Given the description of an element on the screen output the (x, y) to click on. 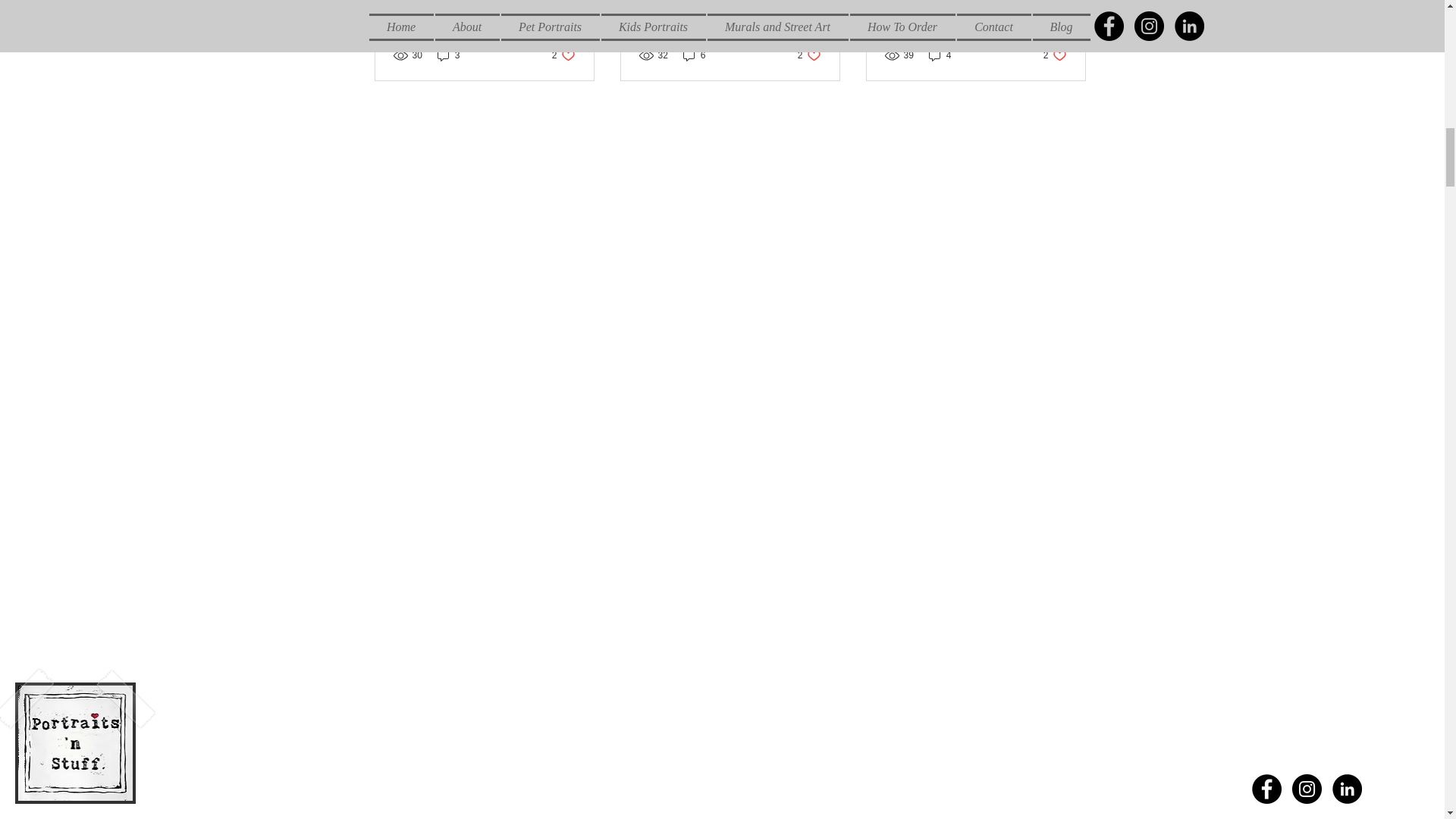
4 (563, 55)
6 (940, 55)
Day 100. Voles in vestments. (1055, 55)
Day 98. A T-Rex in a tiara. (694, 55)
3 (484, 1)
Day 99. A Udanoceratops with an umbrella. (809, 55)
